Given the description of an element on the screen output the (x, y) to click on. 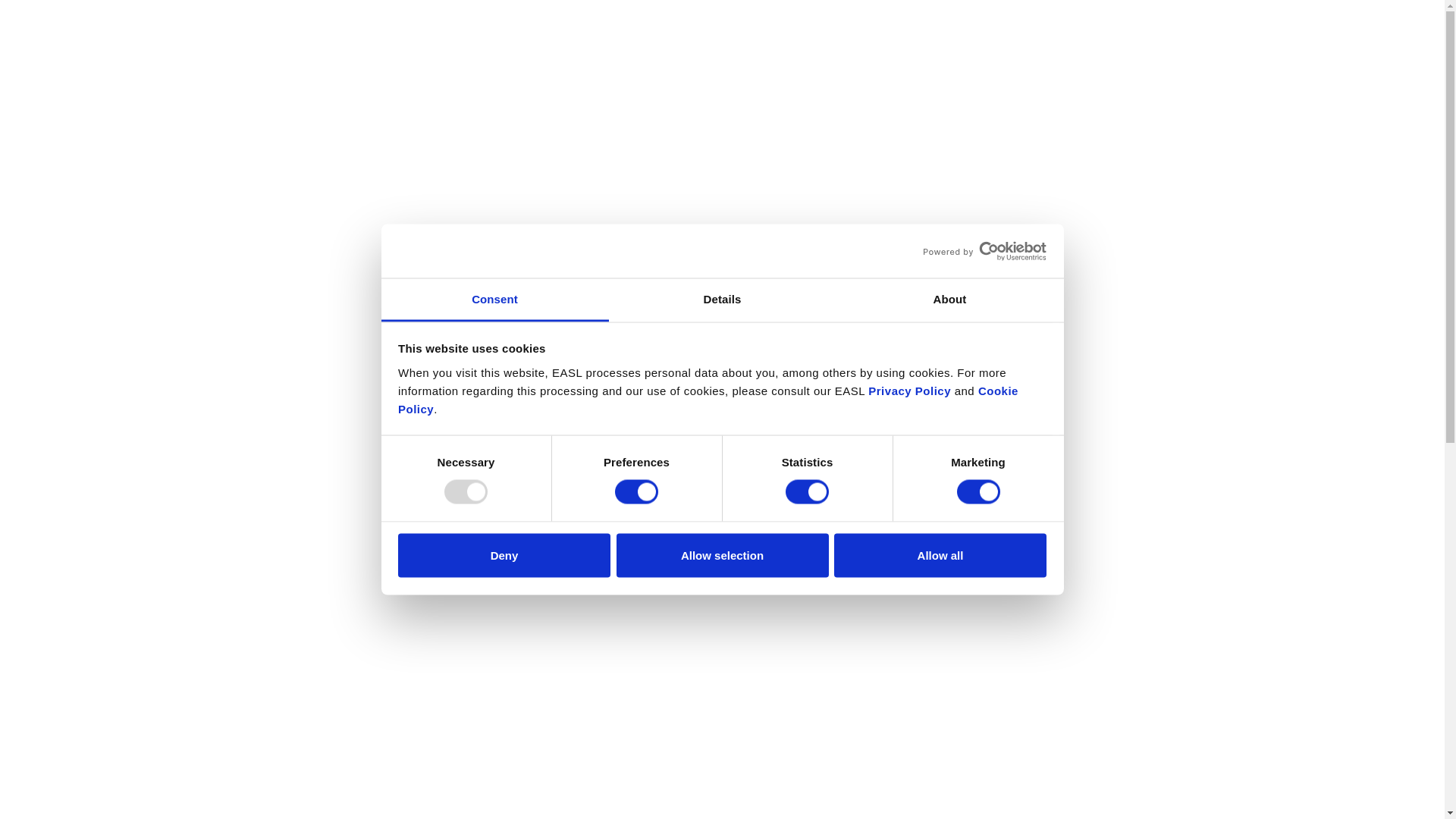
Cookie Policy (707, 399)
Consent (494, 299)
About (948, 299)
Details (721, 299)
Privacy Policy (908, 390)
